Given the description of an element on the screen output the (x, y) to click on. 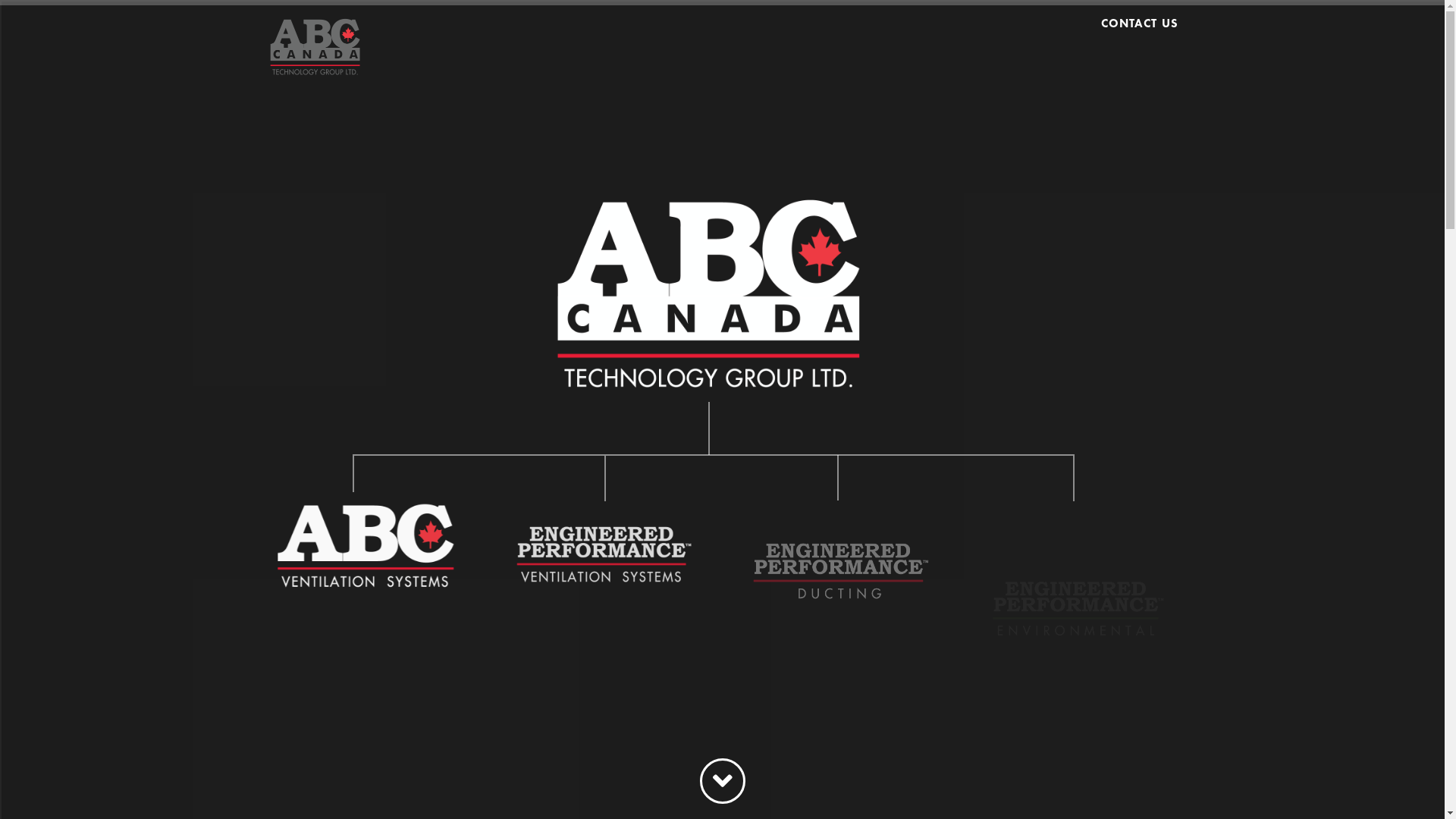
CONTACT US Element type: text (1134, 37)
